Given the description of an element on the screen output the (x, y) to click on. 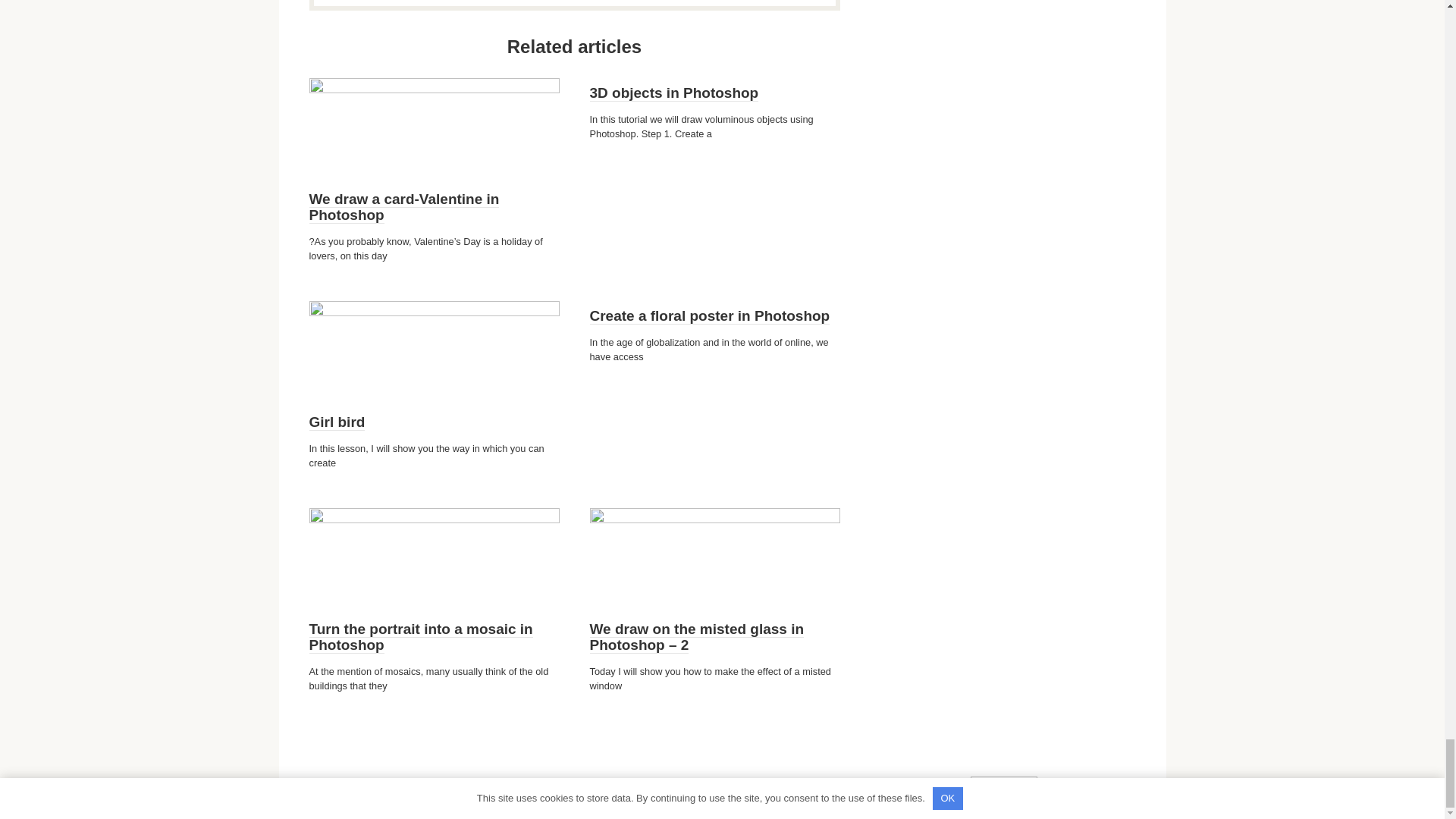
Girl bird (336, 422)
3D objects in Photoshop (673, 93)
We draw a card-Valentine in Photoshop (403, 206)
Create a floral poster in Photoshop (709, 315)
Turn the portrait into a mosaic in Photoshop (420, 636)
